Given the description of an element on the screen output the (x, y) to click on. 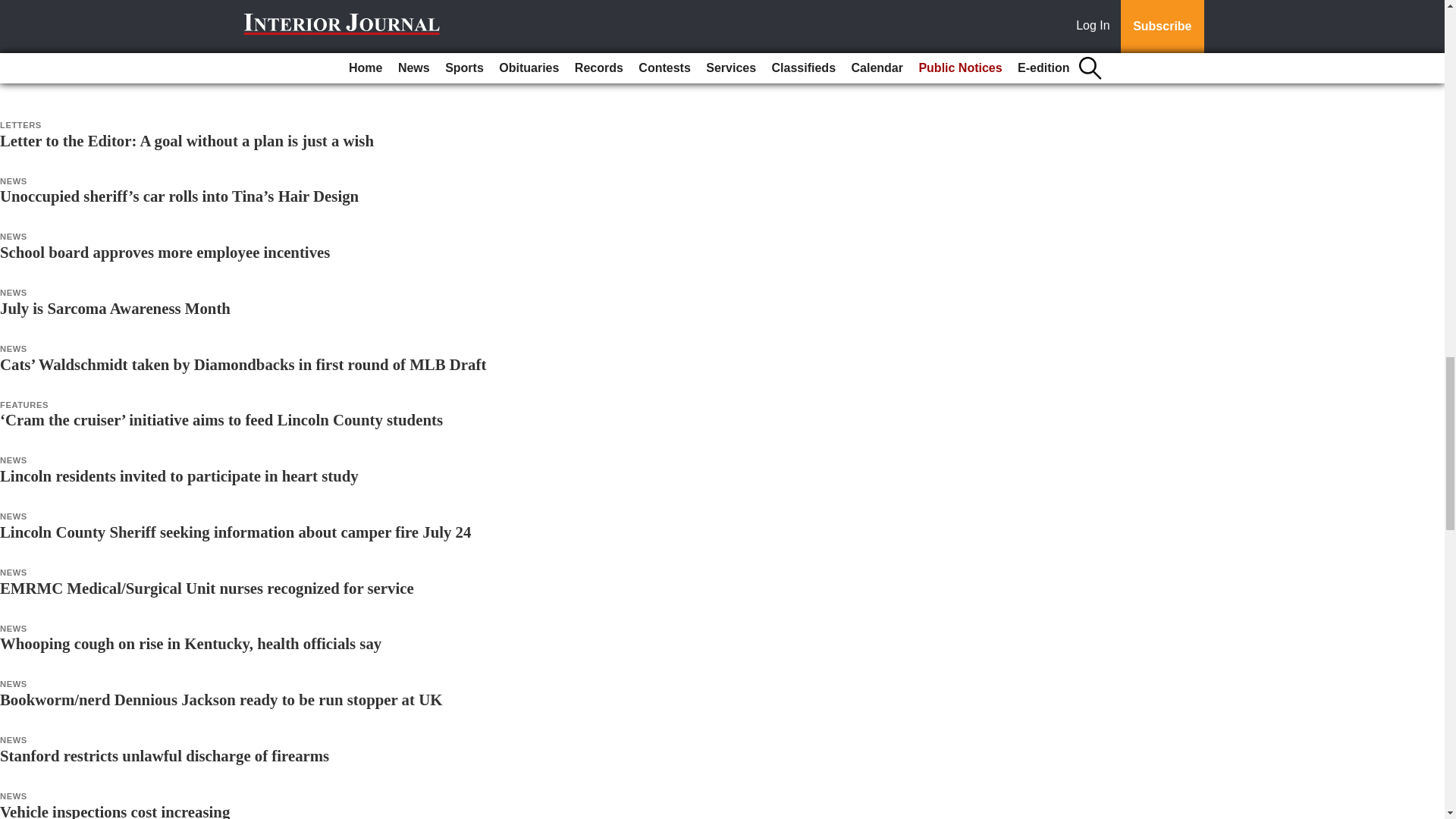
Whooping cough on rise in Kentucky, health officials say (190, 642)
School board approves more employee incentives (165, 252)
Letter to the Editor: A goal without a plan is just a wish (187, 140)
Lincoln residents invited to participate in heart study (179, 475)
July is Sarcoma Awareness Month (115, 307)
Lincoln residents invited to participate in heart study (179, 475)
July is Sarcoma Awareness Month (115, 307)
School board approves more employee incentives (165, 252)
Stanford restricts unlawful discharge of firearms (164, 755)
Vehicle inspections cost increasing (115, 811)
Vehicle inspections cost increasing (115, 811)
Whooping cough on rise in Kentucky, health officials say (190, 642)
Letter to the Editor: A goal without a plan is just a wish (187, 140)
